Given the description of an element on the screen output the (x, y) to click on. 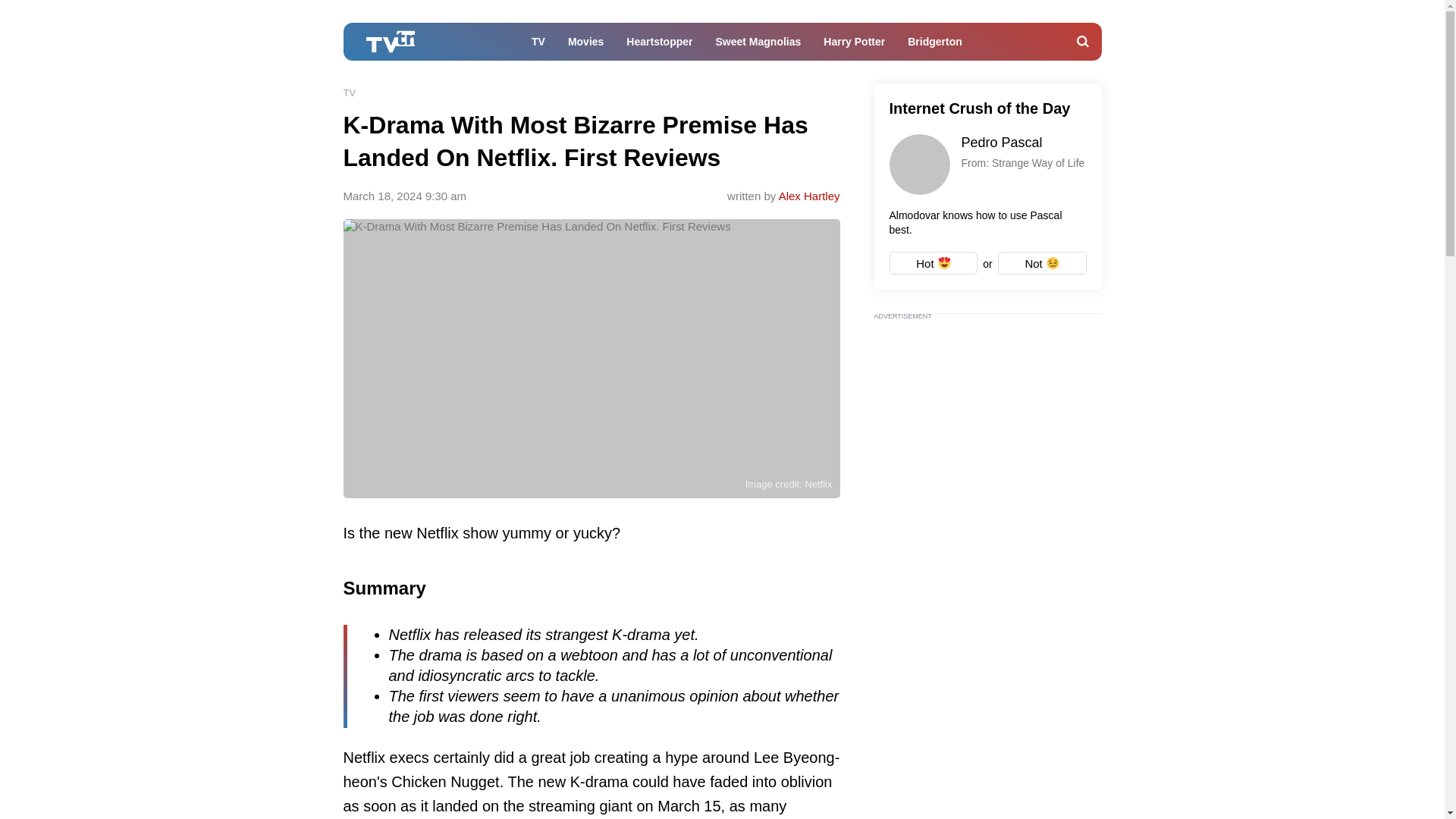
Sweet Magnolias (757, 46)
TV (537, 46)
Hot (932, 262)
Alex Hartley (809, 195)
Movies (585, 46)
Harry Potter (987, 166)
Bridgerton (854, 46)
Heartstopper (935, 46)
